Given the description of an element on the screen output the (x, y) to click on. 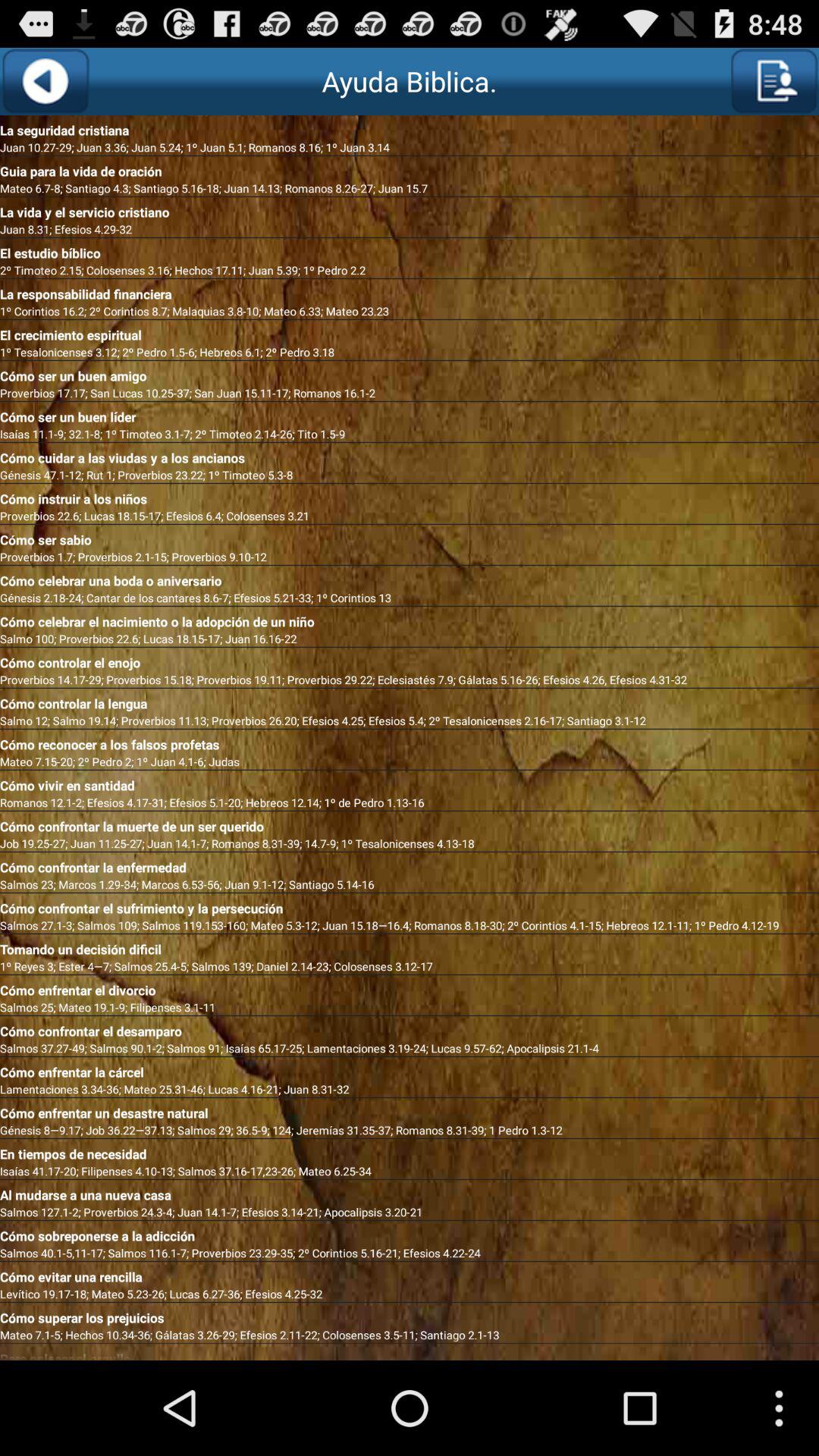
select item below the mateo 7 15 (409, 782)
